Given the description of an element on the screen output the (x, y) to click on. 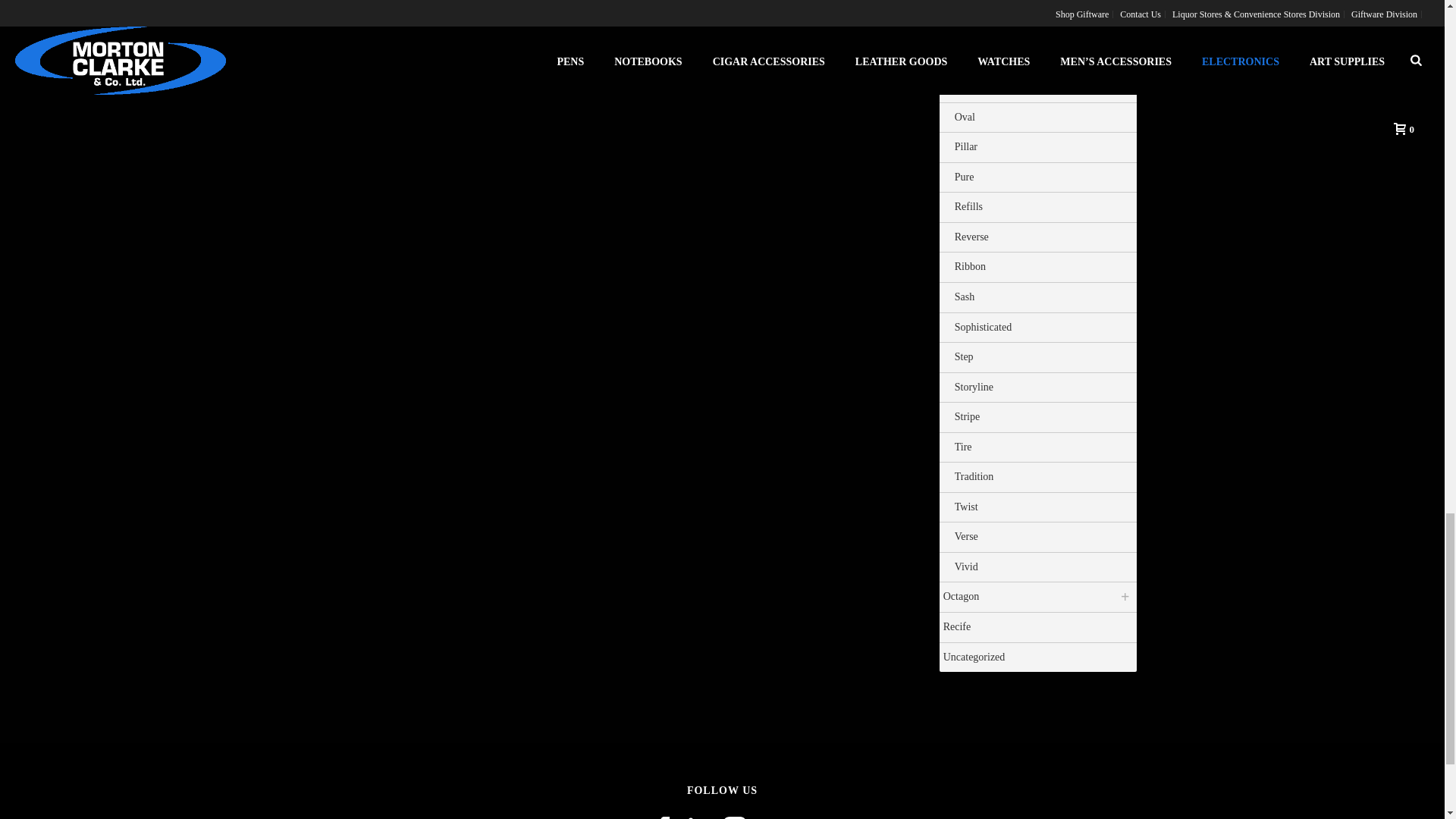
Follow Us on twitter (770, 817)
Follow Us on facebook (662, 817)
Follow Us on instagram (733, 817)
Follow Us on linkedin (699, 817)
